Given the description of an element on the screen output the (x, y) to click on. 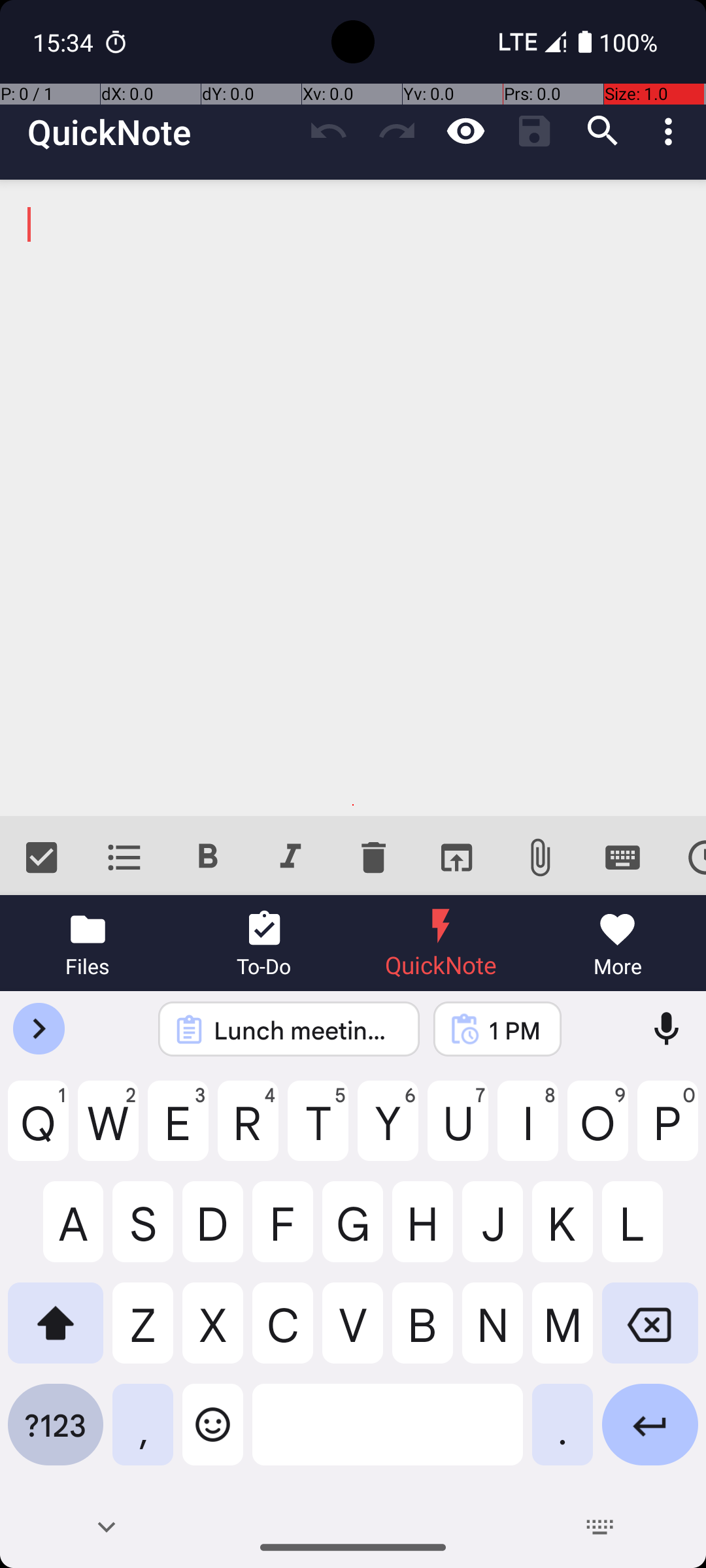
Lunch meeting with Sarah at 1 PM Cafe L'amour. Element type: android.widget.TextView (305, 1029)
1 PM Element type: android.widget.TextView (514, 1029)
